Given the description of an element on the screen output the (x, y) to click on. 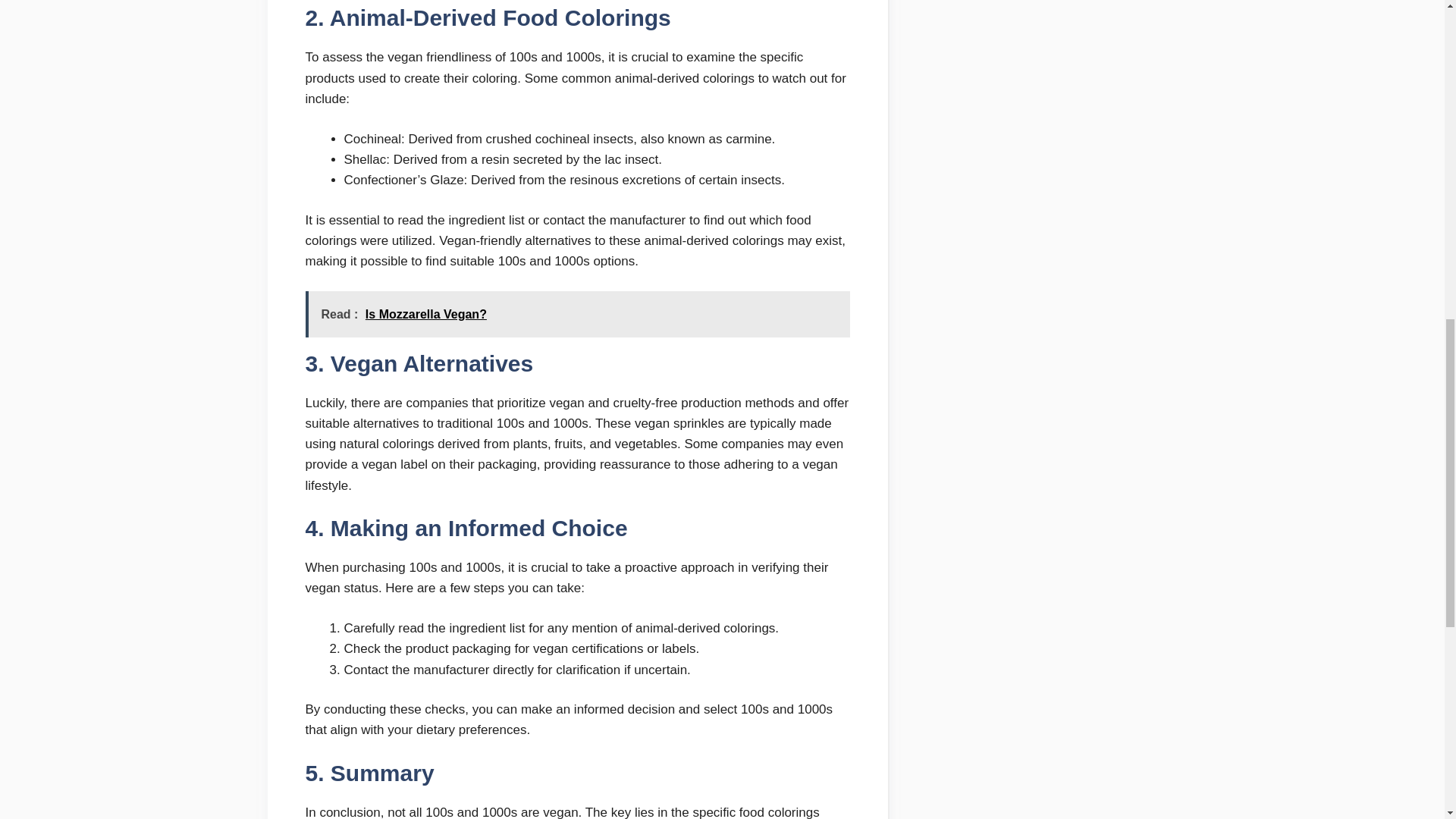
Read :  Is Mozzarella Vegan? (576, 314)
